Given the description of an element on the screen output the (x, y) to click on. 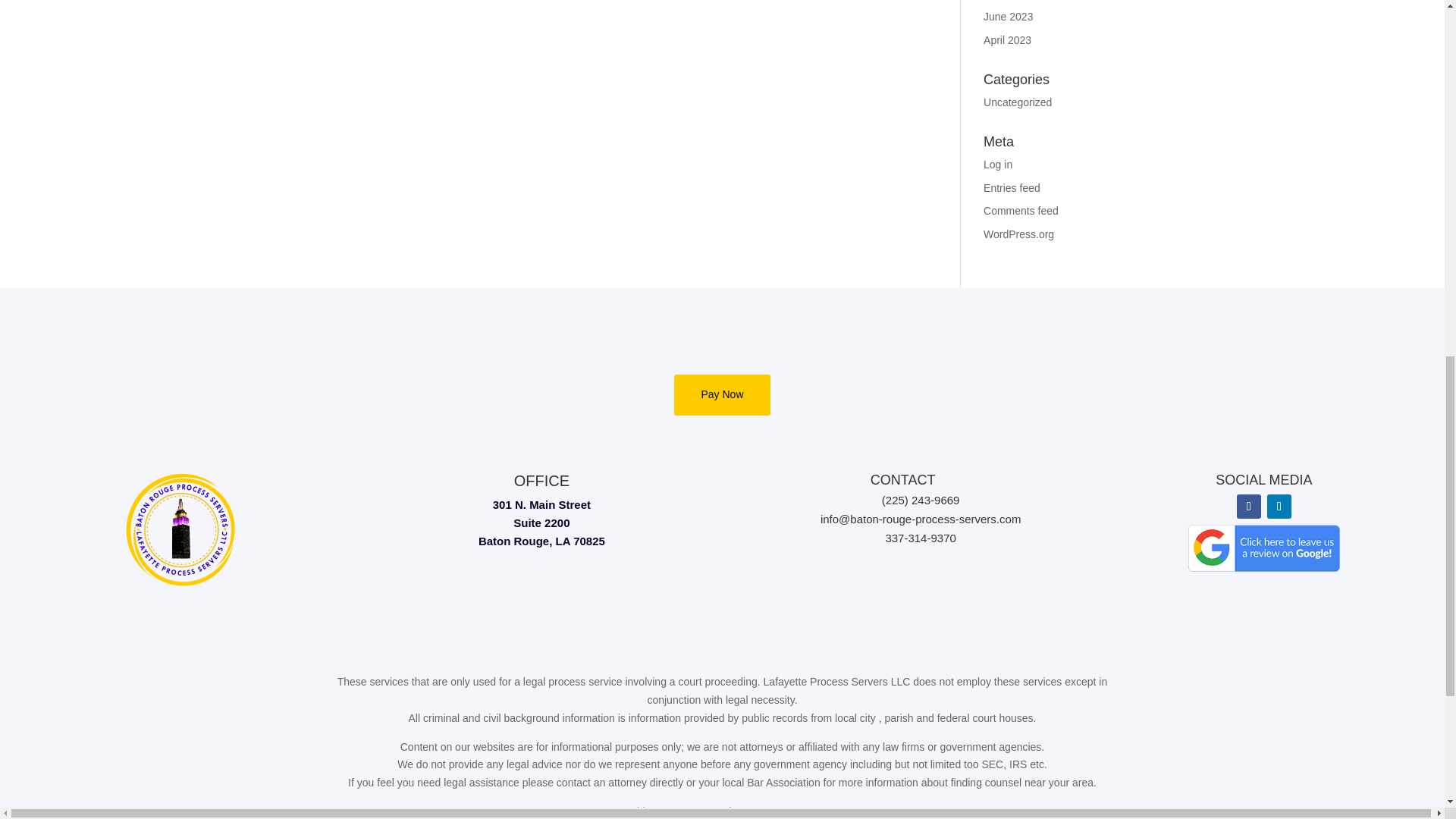
Follow on LinkedIn (1278, 506)
Follow on Facebook (1248, 506)
review-us-on-google-website-button (1263, 547)
